Given the description of an element on the screen output the (x, y) to click on. 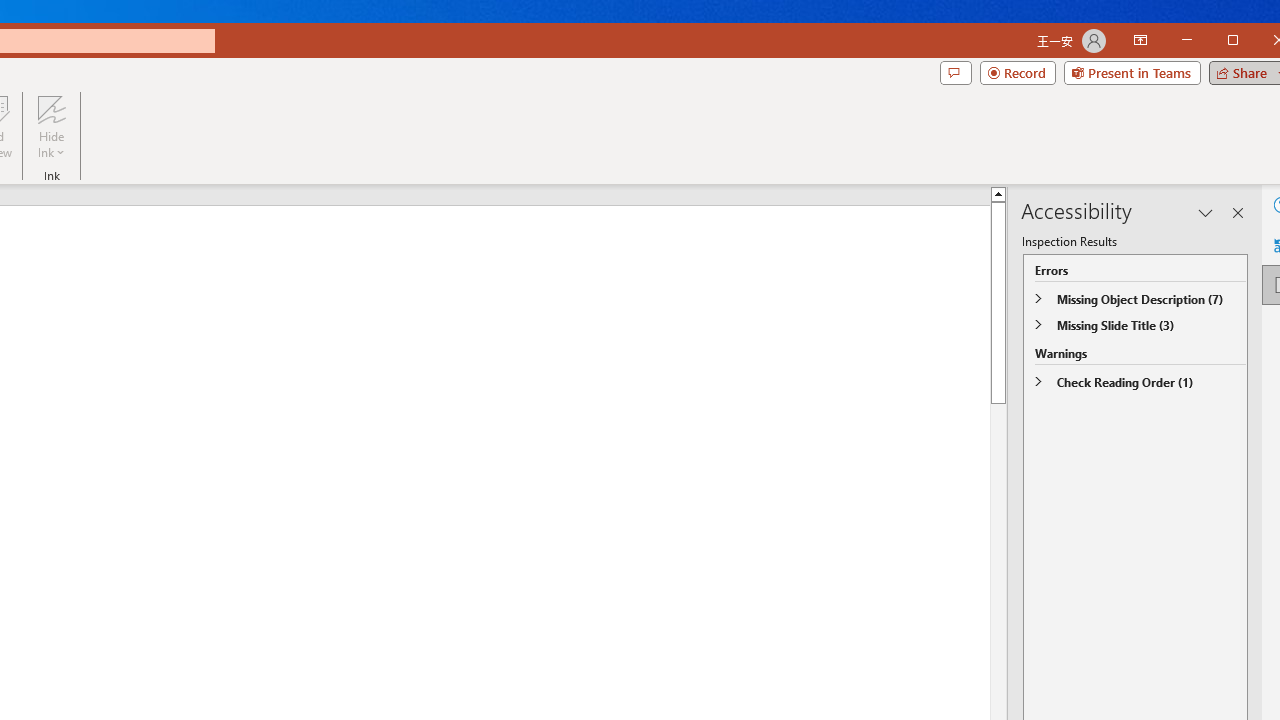
Task Pane Options (1206, 212)
More Options (51, 146)
Present in Teams (1131, 72)
Comments (955, 72)
Maximize (1261, 42)
Hide Ink (51, 109)
Ribbon Display Options (1140, 40)
Minimize (1239, 42)
Hide Ink (51, 127)
Line up (1252, 193)
Close pane (1238, 212)
